Given the description of an element on the screen output the (x, y) to click on. 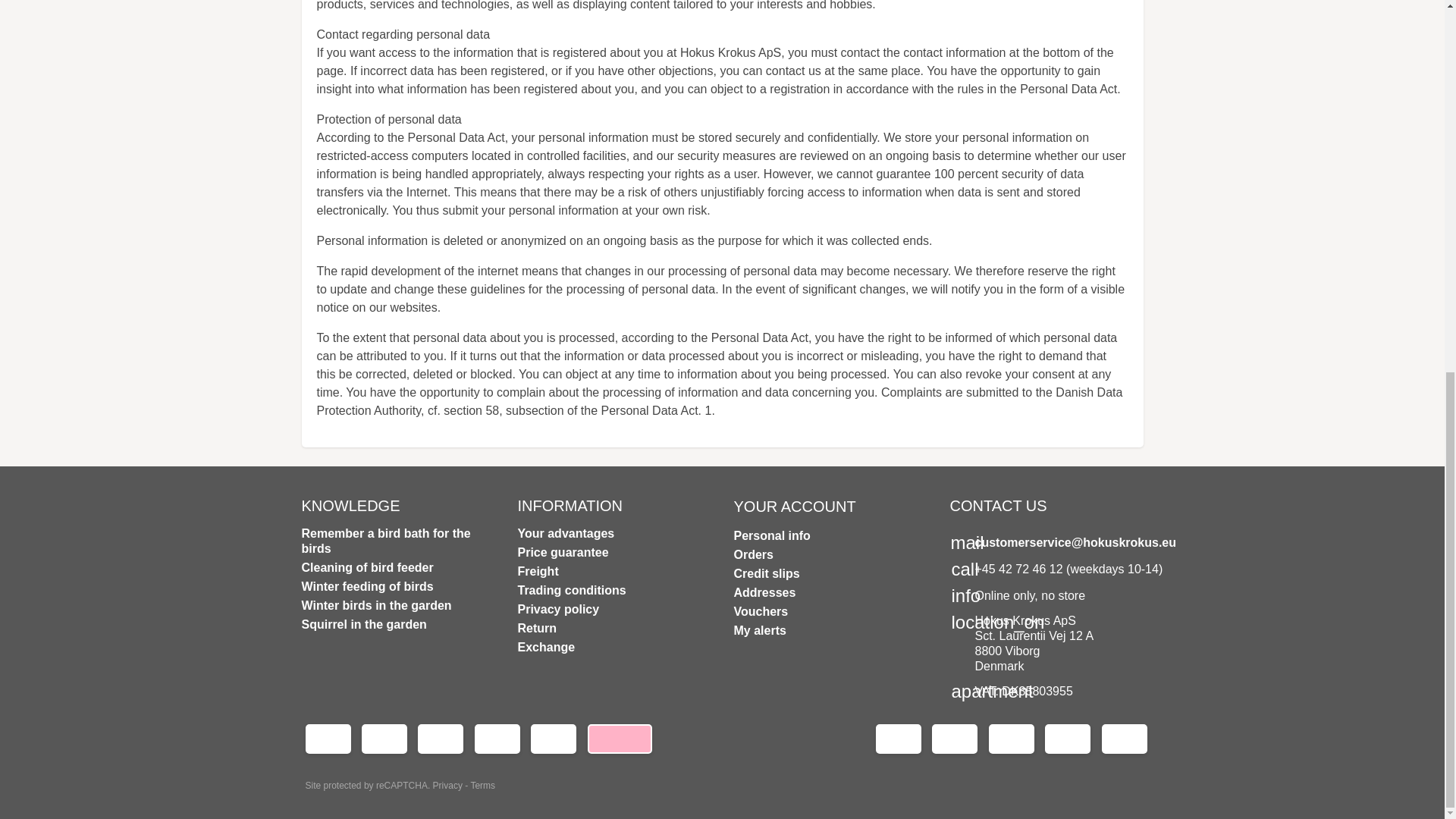
My alerts (759, 629)
Orders (753, 553)
Vouchers (761, 611)
Personal info (771, 535)
Addresses (764, 591)
